Given the description of an element on the screen output the (x, y) to click on. 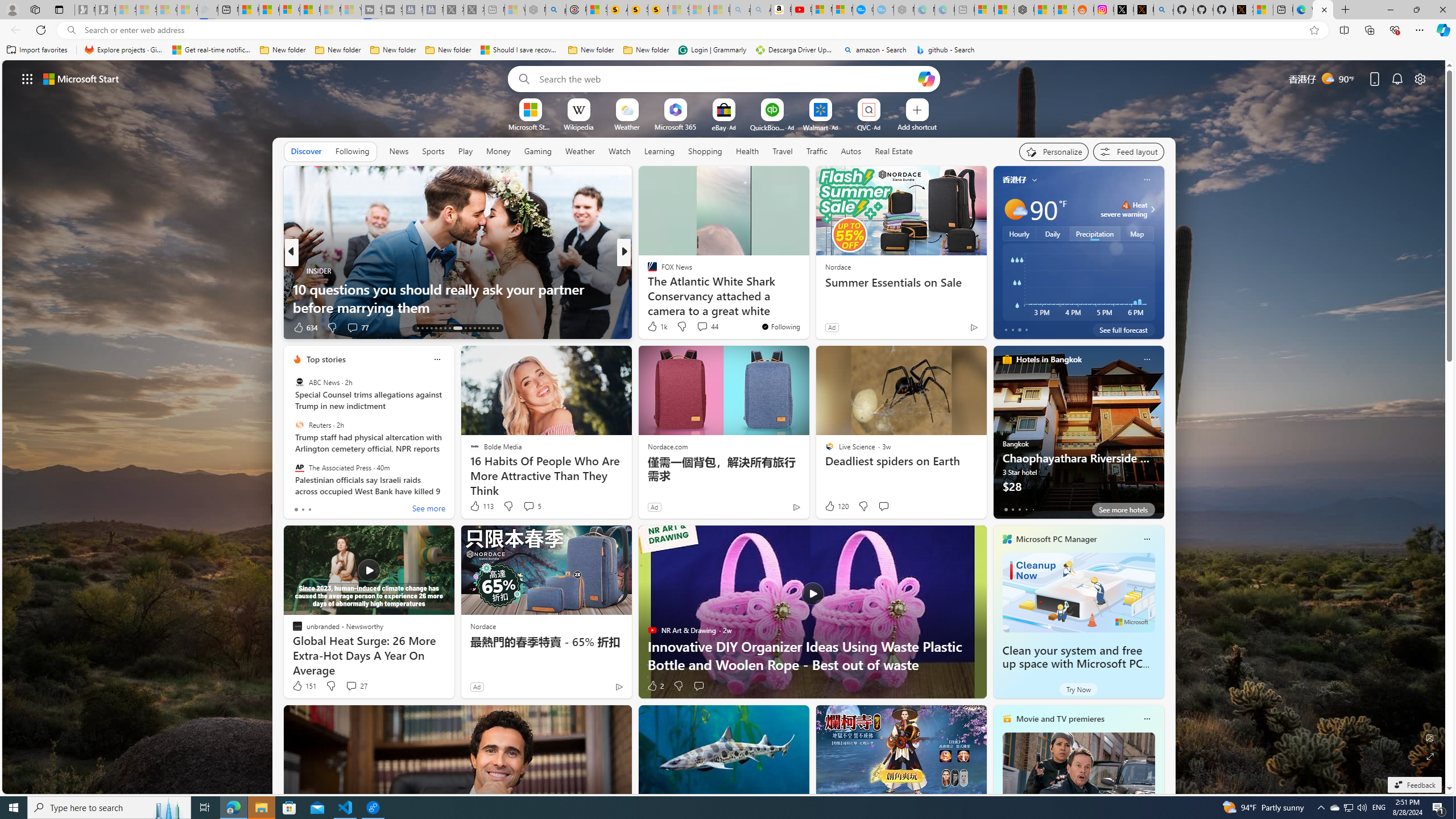
Health (746, 151)
Shopping (705, 151)
INSIDER (296, 270)
Import favorites (36, 49)
View comments 1 Comment (703, 327)
Top stories (325, 359)
View comments 5 Comment (532, 505)
Shopping (705, 151)
github - Search (945, 49)
